Given the description of an element on the screen output the (x, y) to click on. 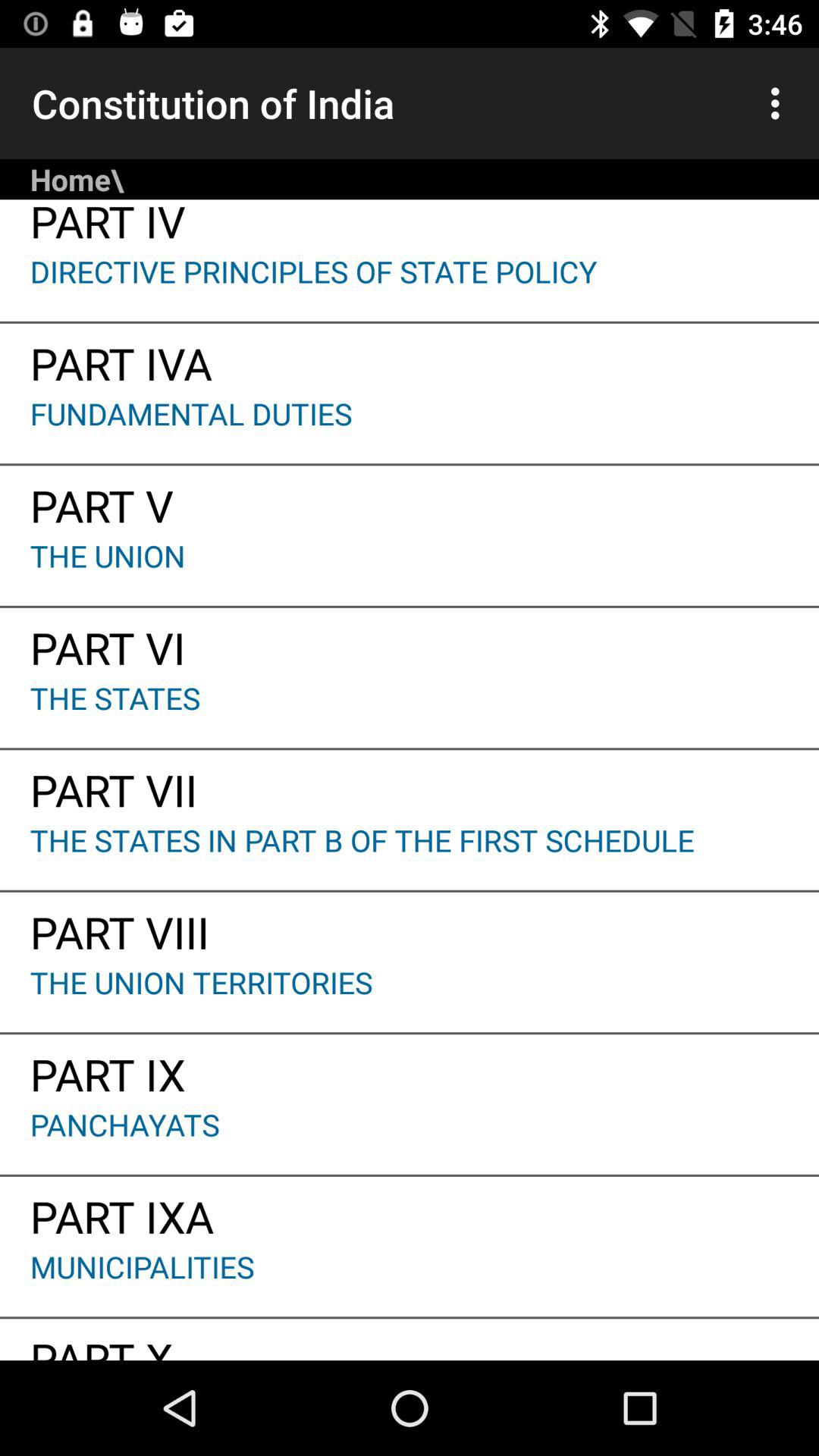
choose the part vi app (409, 642)
